Given the description of an element on the screen output the (x, y) to click on. 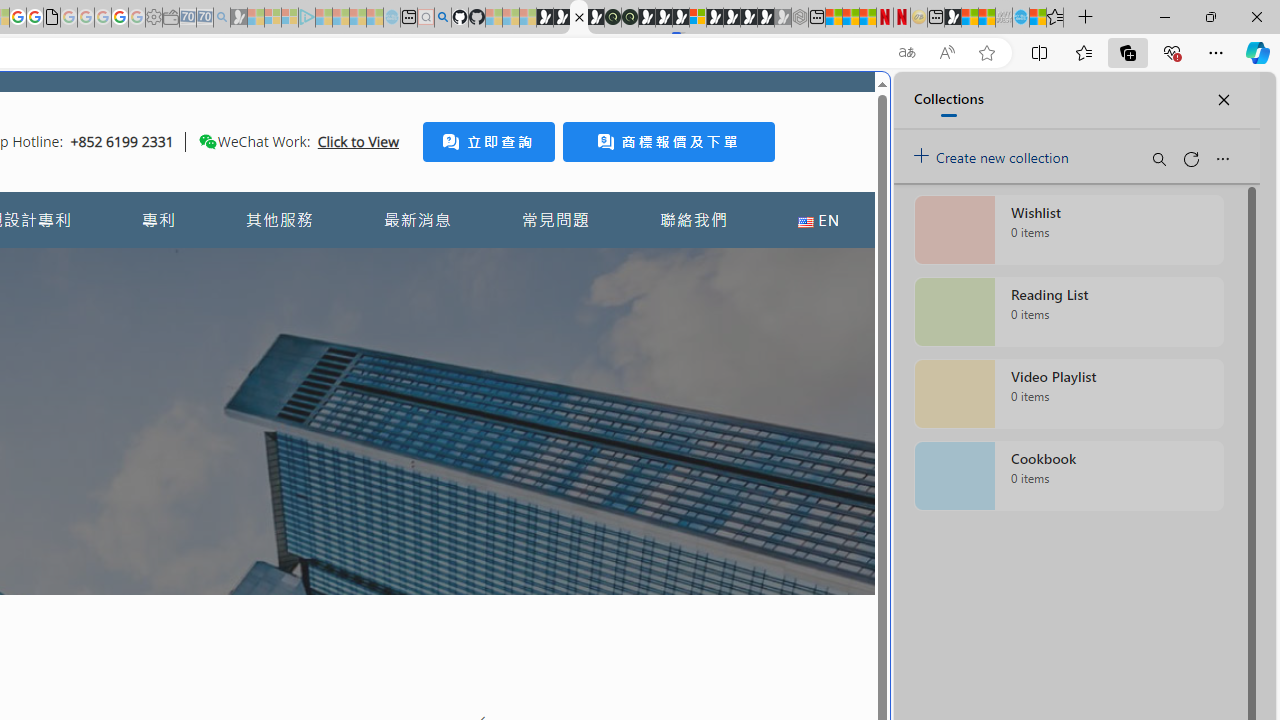
Services - Maintenance | Sky Blue Bikes - Sky Blue Bikes (1020, 17)
github - Search (442, 17)
